Given the description of an element on the screen output the (x, y) to click on. 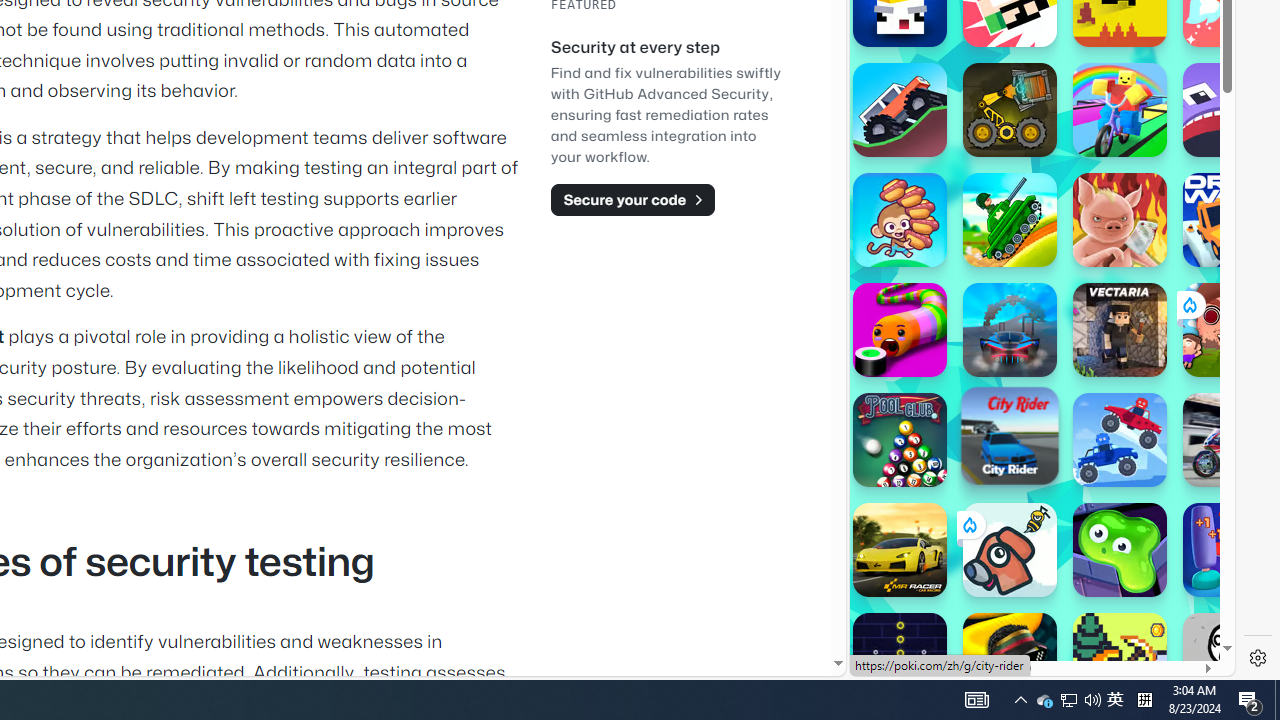
Battle Wheels (1119, 439)
Neon War Neon War (899, 659)
Island Odyssey: Return of the Sea (1119, 659)
Iron Snout Iron Snout (1119, 219)
Punch Legend Simulator Punch Legend Simulator (1229, 549)
Rainbow Obby (1119, 109)
SUBWAY SURFERS - Play Online for Free! | Poki (1034, 624)
Driftwave Driftwave (1229, 219)
Combat Reloaded (1092, 300)
Hills of Steel Hills of Steel (1009, 219)
Monster Tracks Monster Tracks (899, 109)
MR RACER - Car Racing (899, 549)
Hills of Steel Hills of Steel poki.com (943, 245)
Secure your code (632, 199)
